Given the description of an element on the screen output the (x, y) to click on. 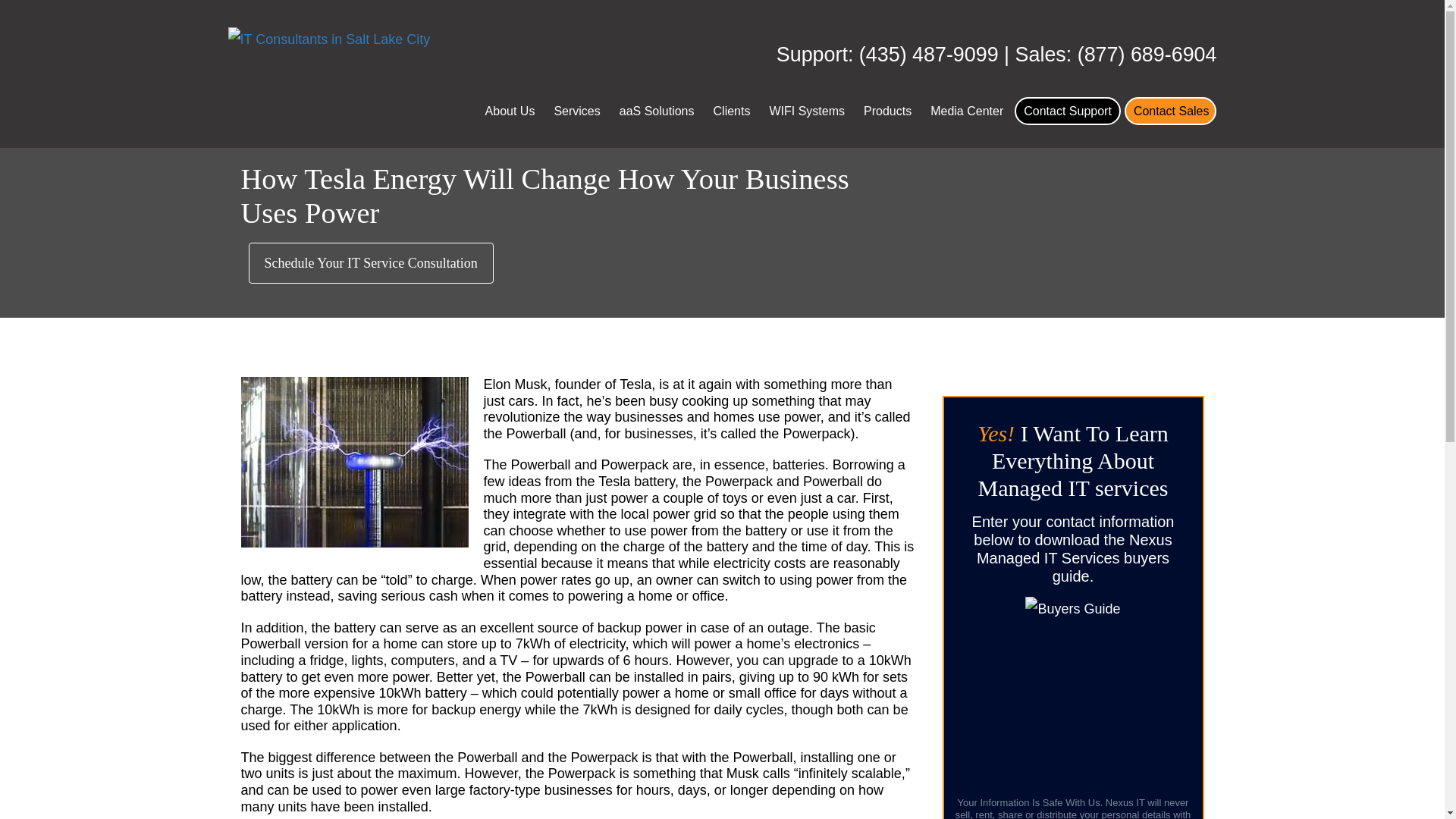
Services (576, 111)
aaS Solutions (657, 111)
About Us (509, 111)
Clients (732, 111)
